Given the description of an element on the screen output the (x, y) to click on. 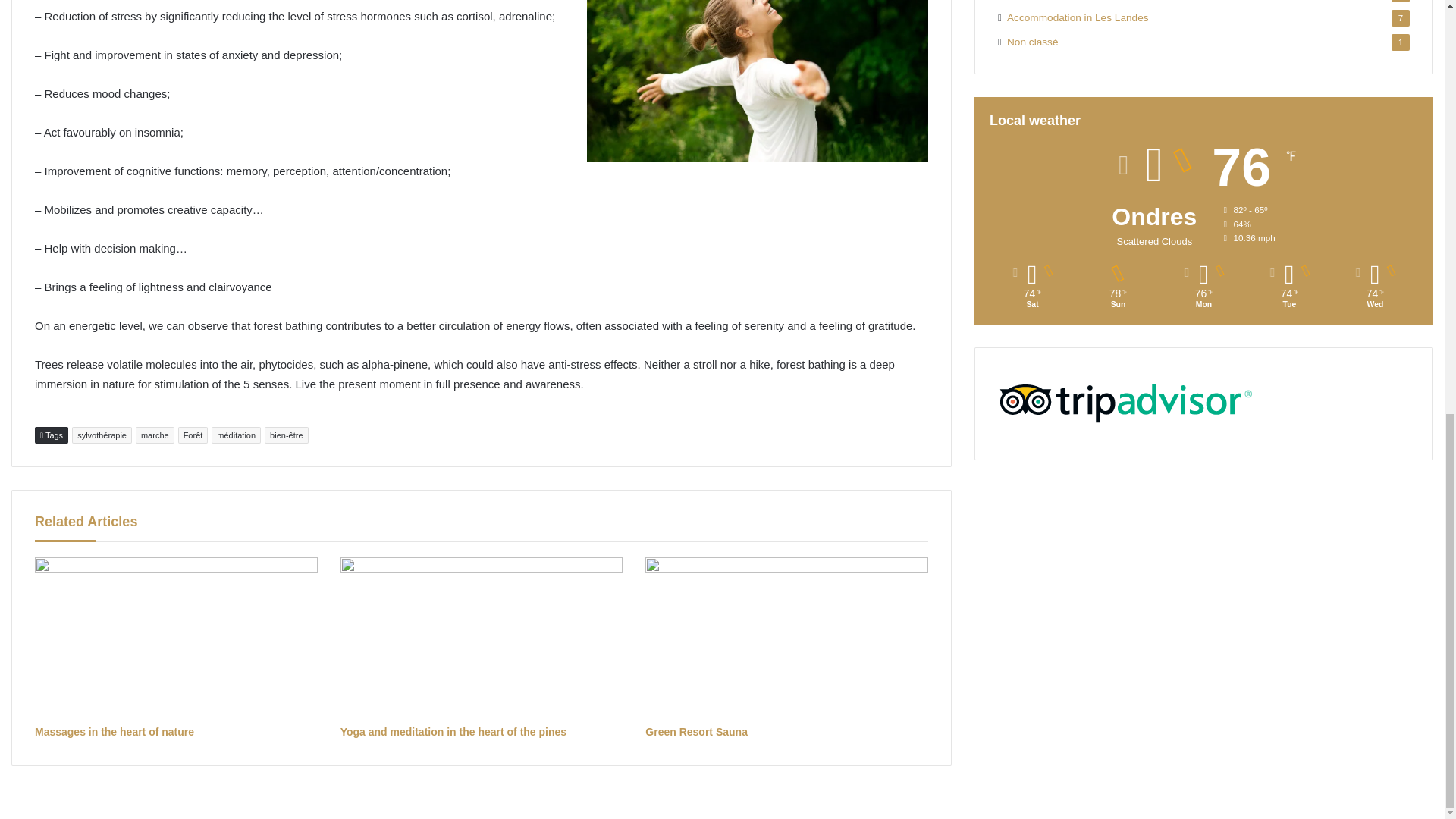
Green Resort Sauna (786, 636)
Green Resort Sauna (696, 731)
Massages in the heart of nature (113, 731)
Massages in the heart of nature (175, 636)
Yoga and meditation in the heart of the pines (453, 731)
Yoga and meditation in the heart of the pines (481, 636)
